Given the description of an element on the screen output the (x, y) to click on. 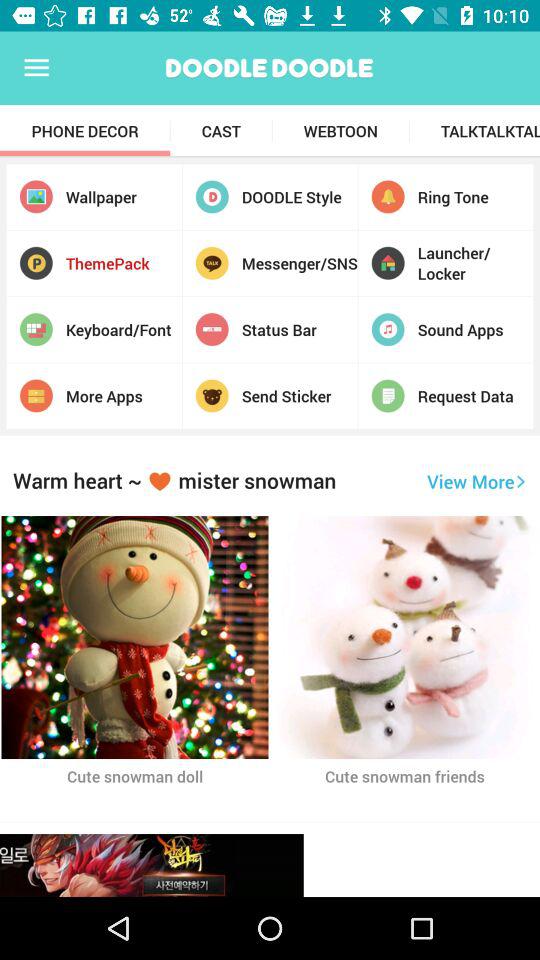
choose item next to warm heart mister item (476, 481)
